Given the description of an element on the screen output the (x, y) to click on. 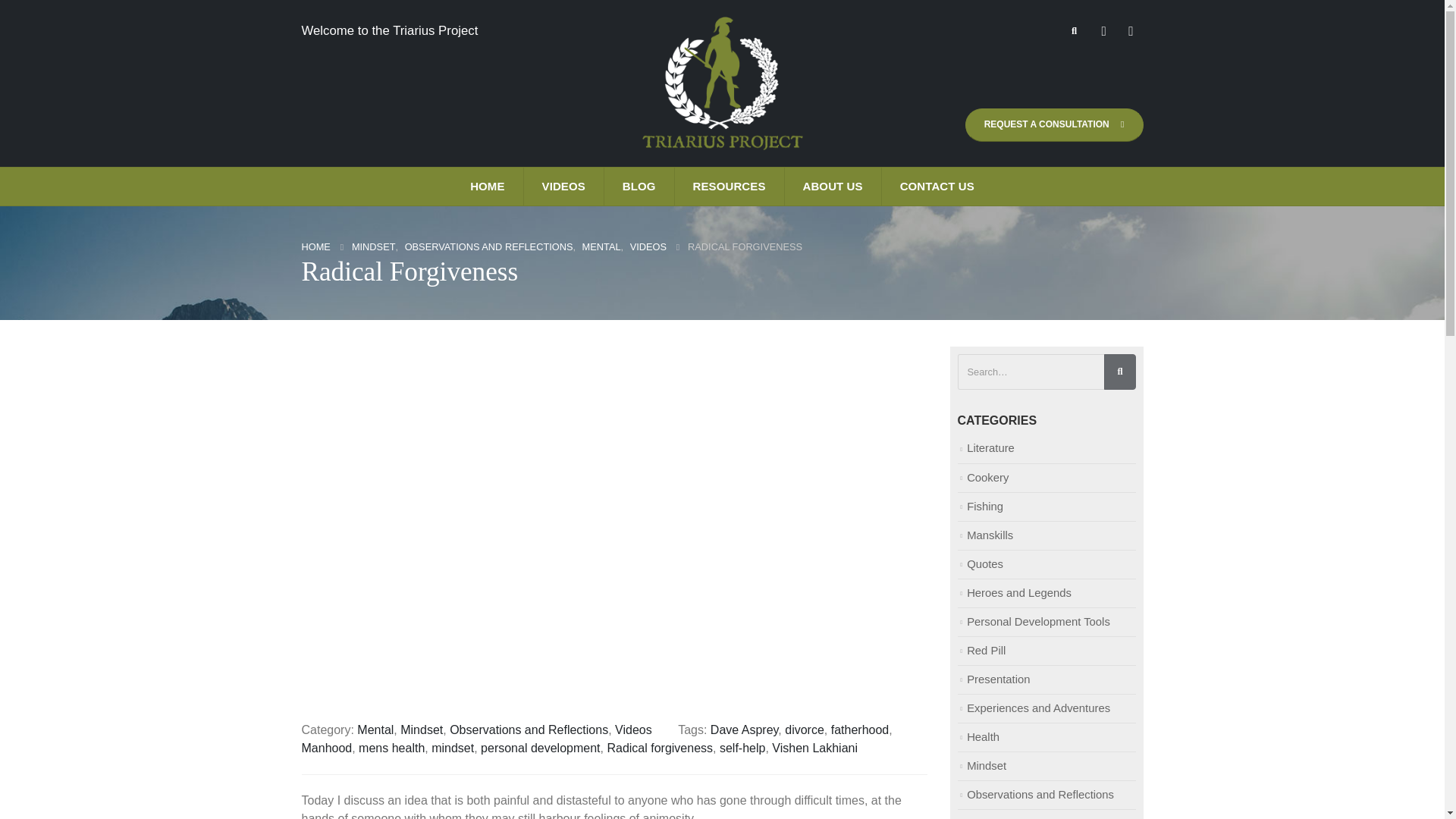
VIDEOS (648, 247)
Videos (633, 729)
self-help (742, 748)
Vishen Lakhiani (814, 748)
Dave Asprey (744, 729)
MENTAL (601, 247)
Mental (374, 729)
RESOURCES (729, 186)
Instagram (1130, 30)
mens health (391, 748)
CONTACT US (937, 186)
personal development (539, 748)
HOME (486, 186)
Go to Home Page (315, 247)
Triarius Project - Personal Development Health and Wellbeing (722, 83)
